Given the description of an element on the screen output the (x, y) to click on. 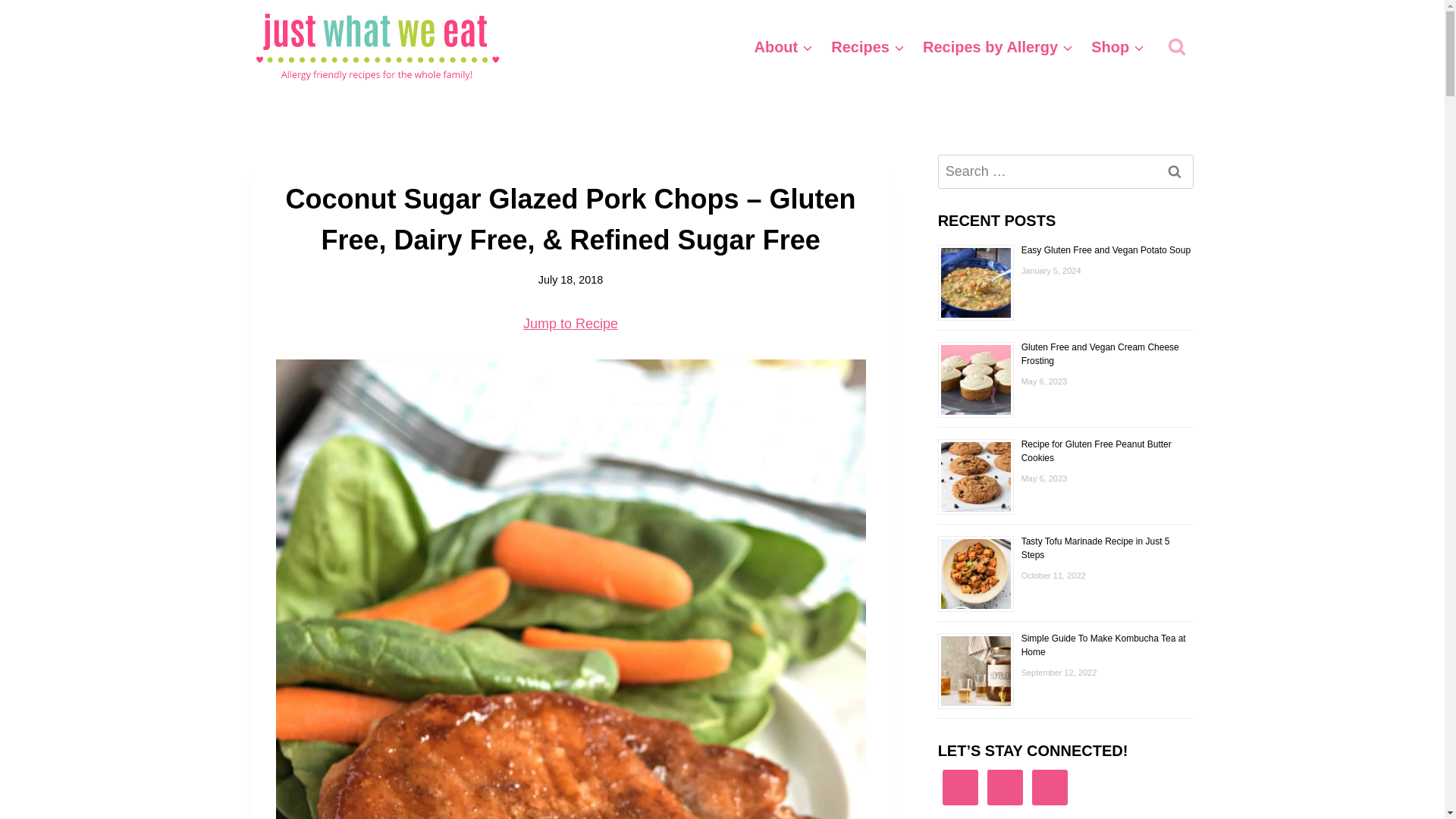
Recipes by Allergy (997, 46)
Recipes (868, 46)
Jump to Recipe (569, 323)
About (783, 46)
Jump to Recipe (569, 323)
Search (1174, 171)
Shop (1117, 46)
Search (1174, 171)
